Given the description of an element on the screen output the (x, y) to click on. 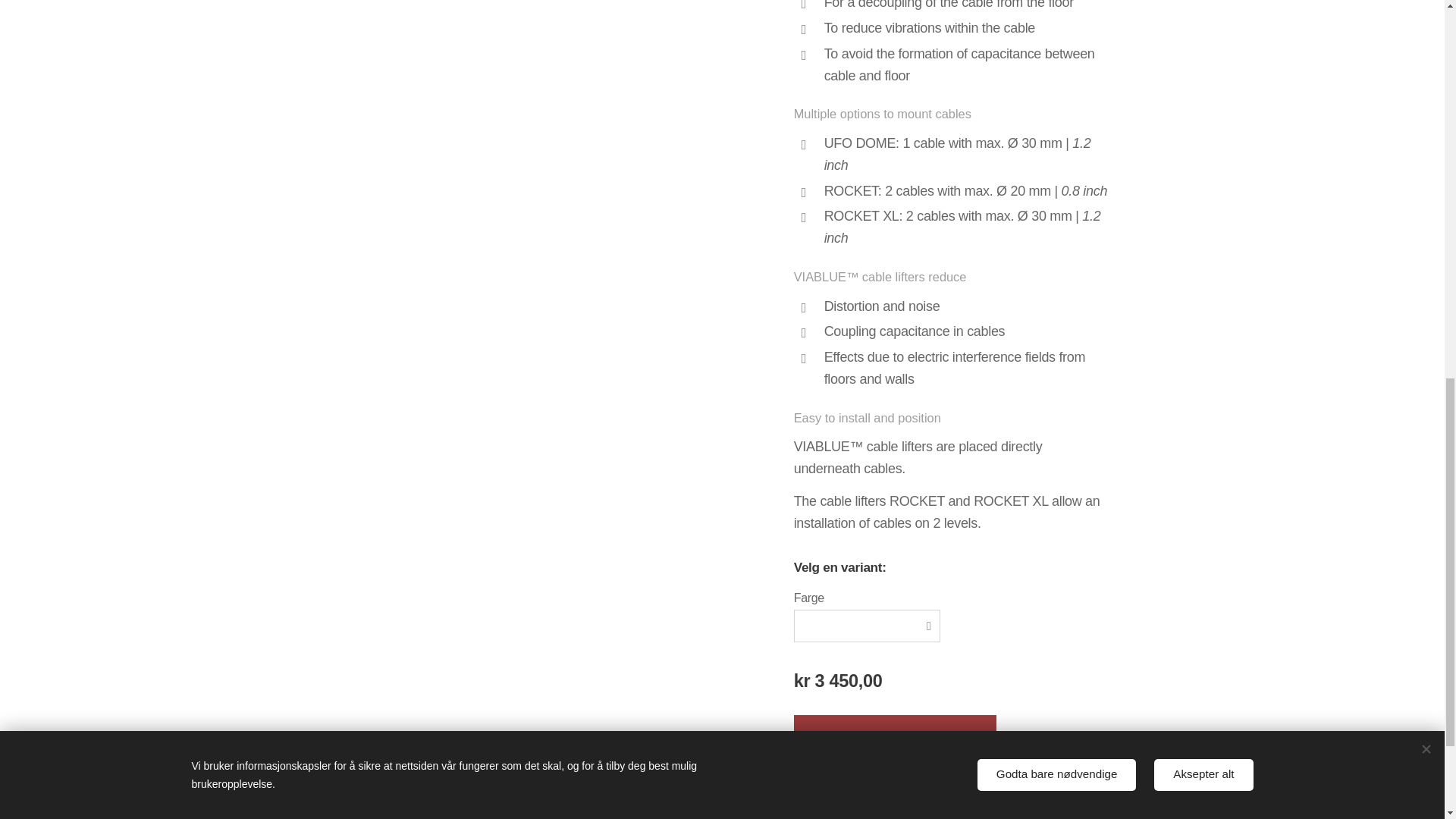
Legg til i handlekurven (895, 739)
